Given the description of an element on the screen output the (x, y) to click on. 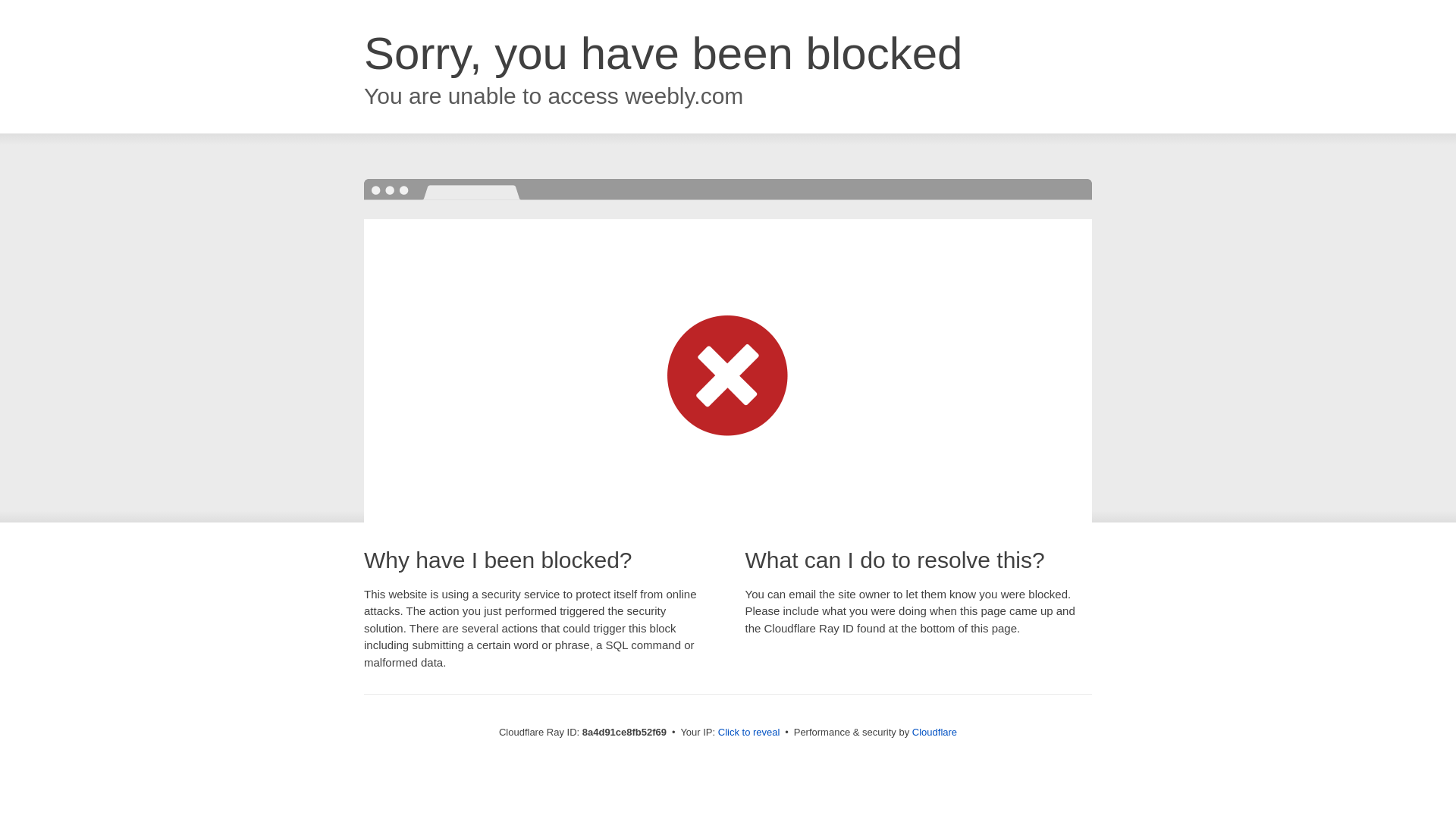
Cloudflare (934, 731)
Click to reveal (748, 732)
